Given the description of an element on the screen output the (x, y) to click on. 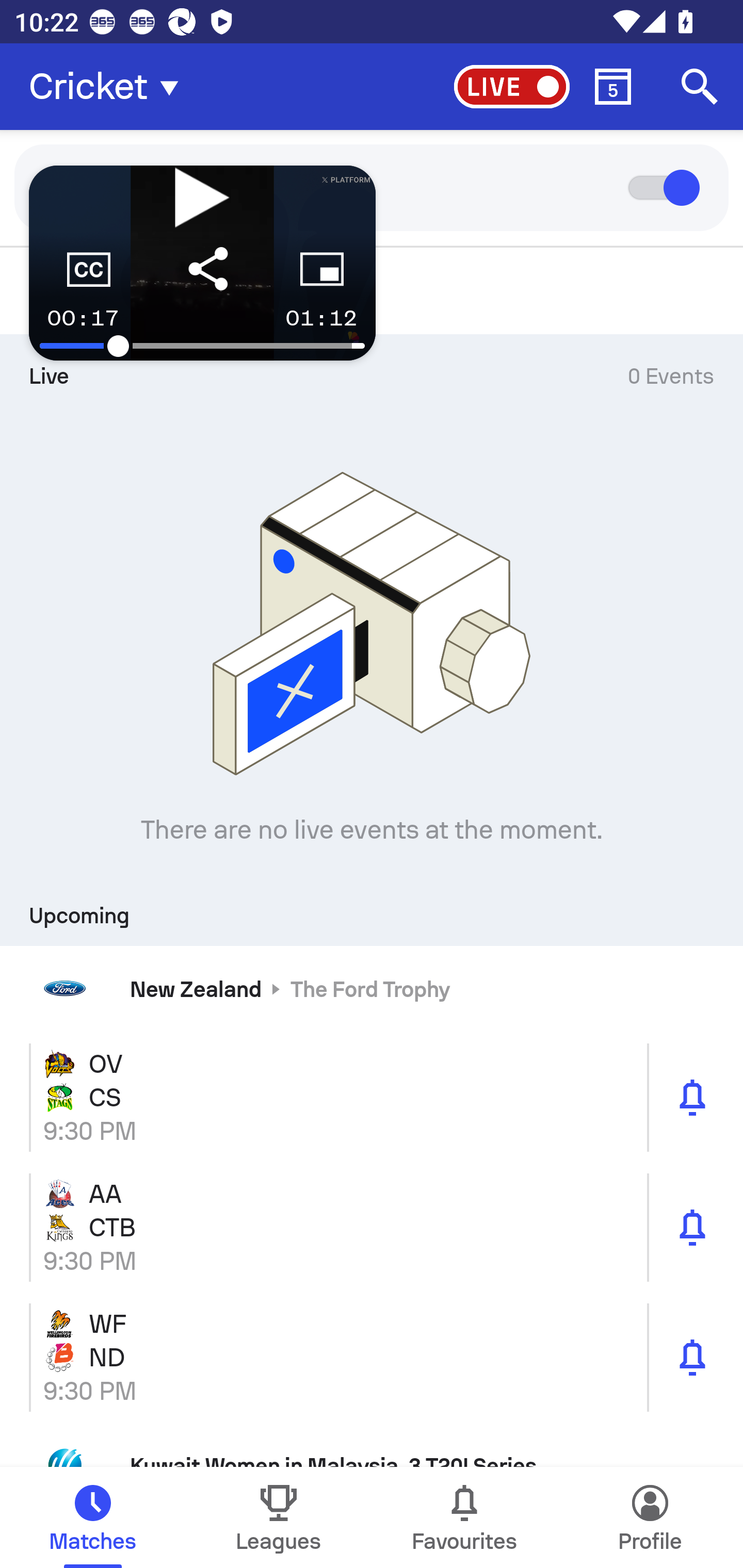
Cricket (109, 86)
Calendar (612, 86)
Search (699, 86)
Upcoming (371, 909)
New Zealand The Ford Trophy (371, 989)
OV CS 9:30 PM (371, 1097)
AA CTB 9:30 PM (371, 1226)
WF ND 9:30 PM (371, 1357)
Leagues (278, 1517)
Favourites (464, 1517)
Profile (650, 1517)
